Given the description of an element on the screen output the (x, y) to click on. 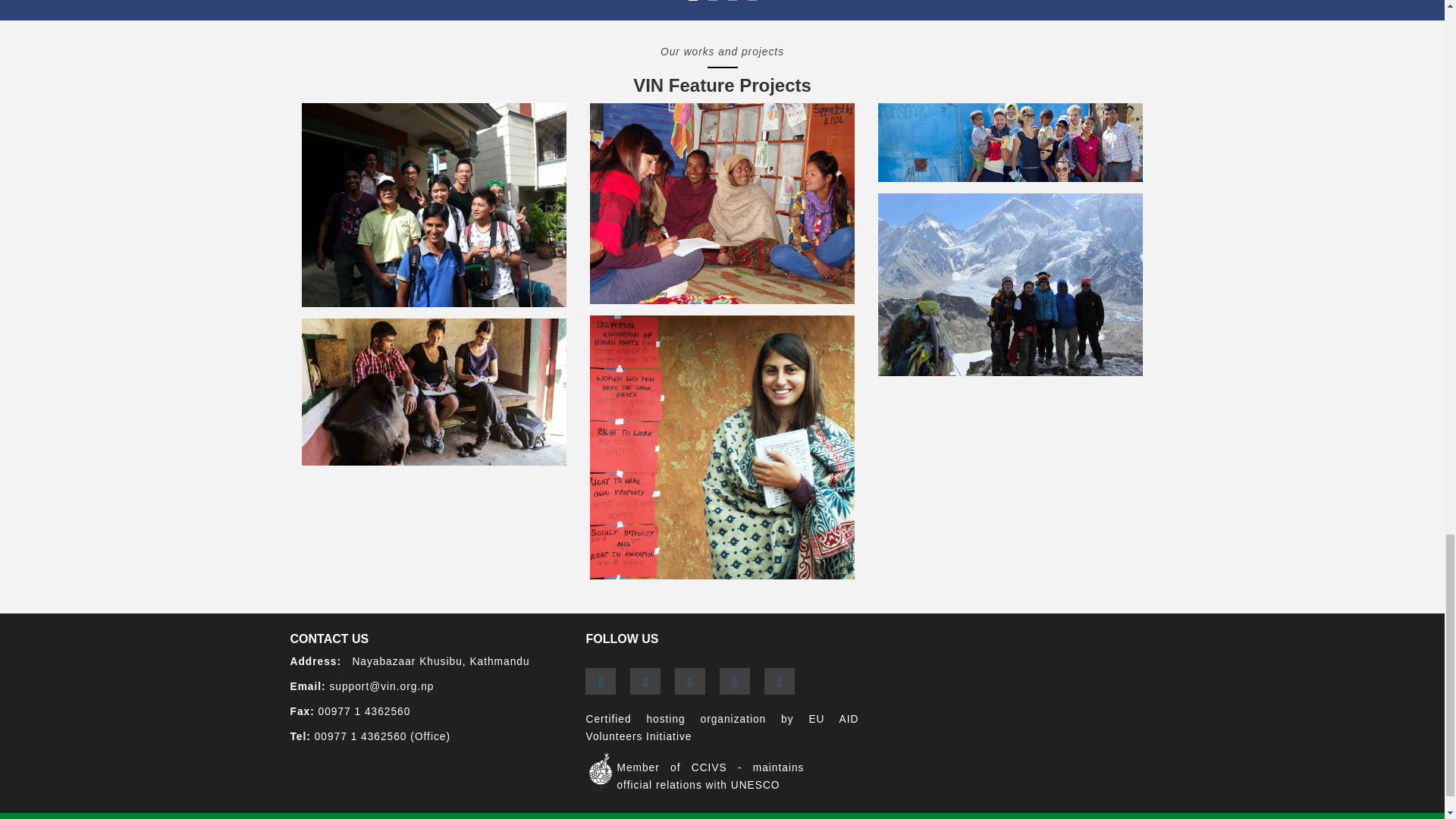
Charity Trek (1010, 284)
Group Volunteering (1010, 142)
facebook (600, 681)
Volunteer Oversea (433, 392)
twitter (645, 681)
Asian Voluntary (722, 447)
Family Volunteering (722, 203)
Work Camp (433, 205)
